Given the description of an element on the screen output the (x, y) to click on. 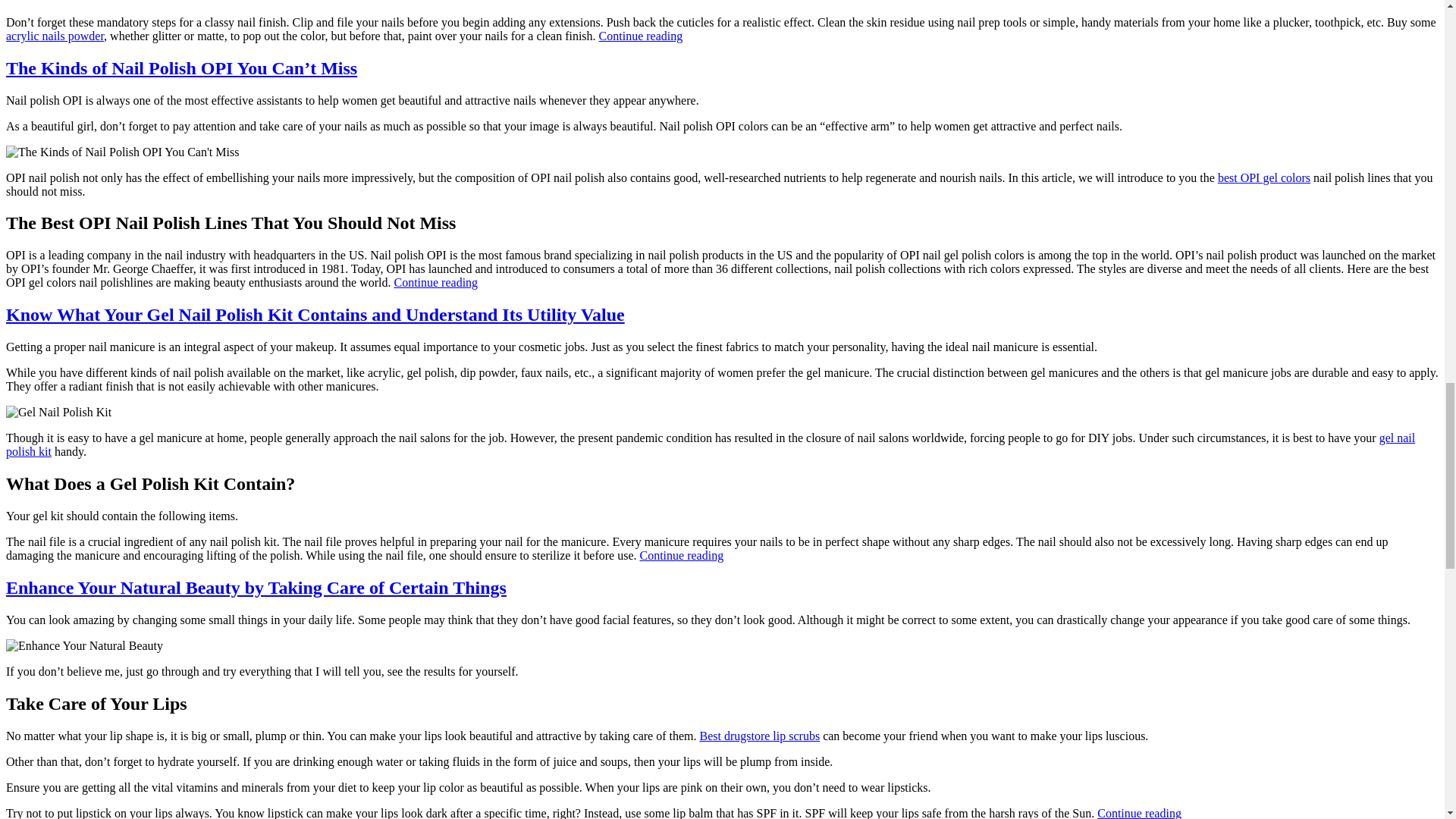
Continue reading (640, 35)
Continue reading (681, 554)
Continue reading (435, 282)
Best drugstore lip scrubs (758, 735)
Continue reading (1138, 812)
best OPI gel colors (1263, 177)
gel nail polish kit (710, 444)
Enhance Your Natural Beauty by Taking Care of Certain Things (255, 587)
acrylic nails powder (54, 35)
